Given the description of an element on the screen output the (x, y) to click on. 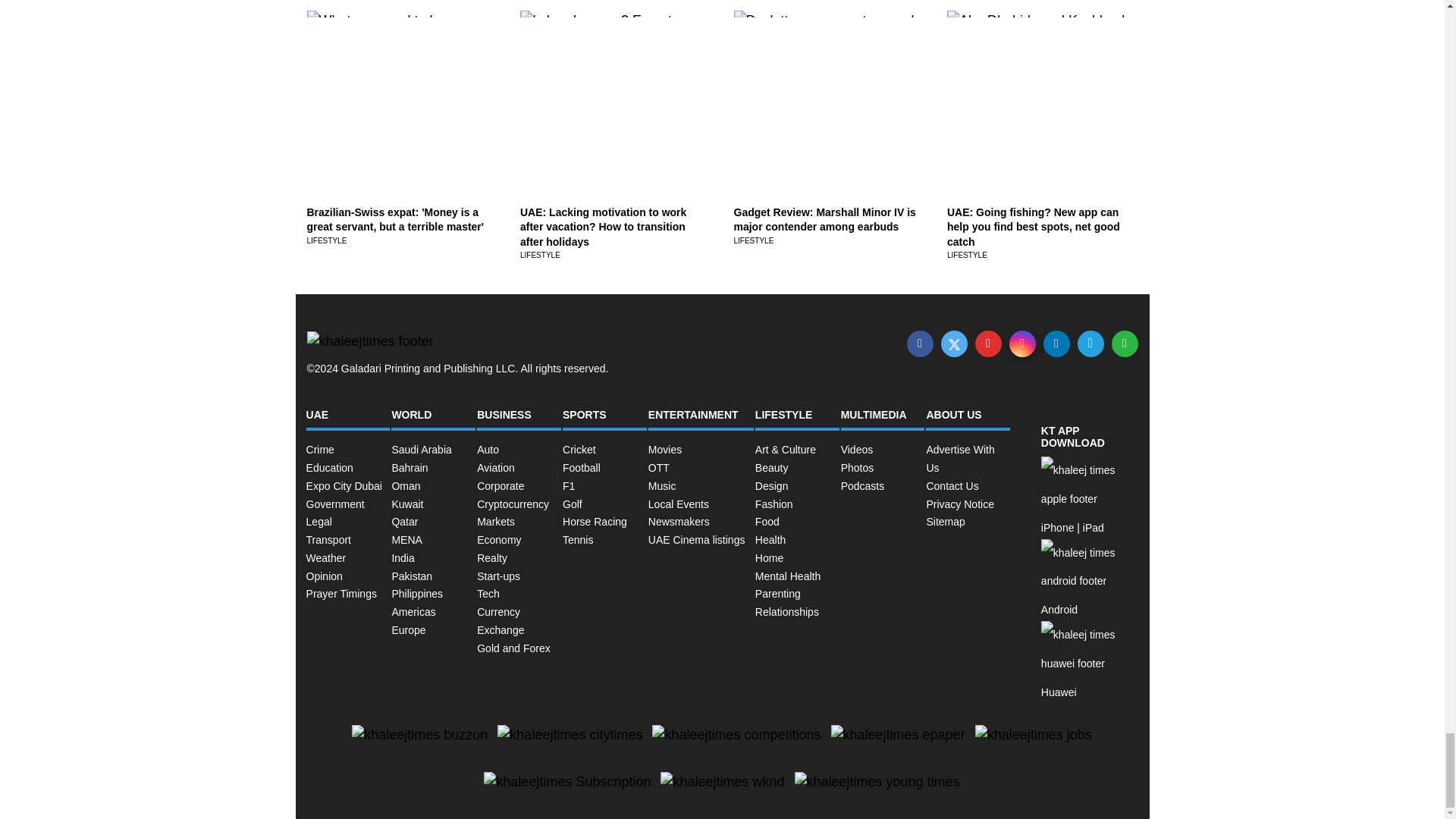
Declutter your way to a cool mind (818, 65)
Is karak wrong? Experts on the difference between chai, tea (598, 93)
